Given the description of an element on the screen output the (x, y) to click on. 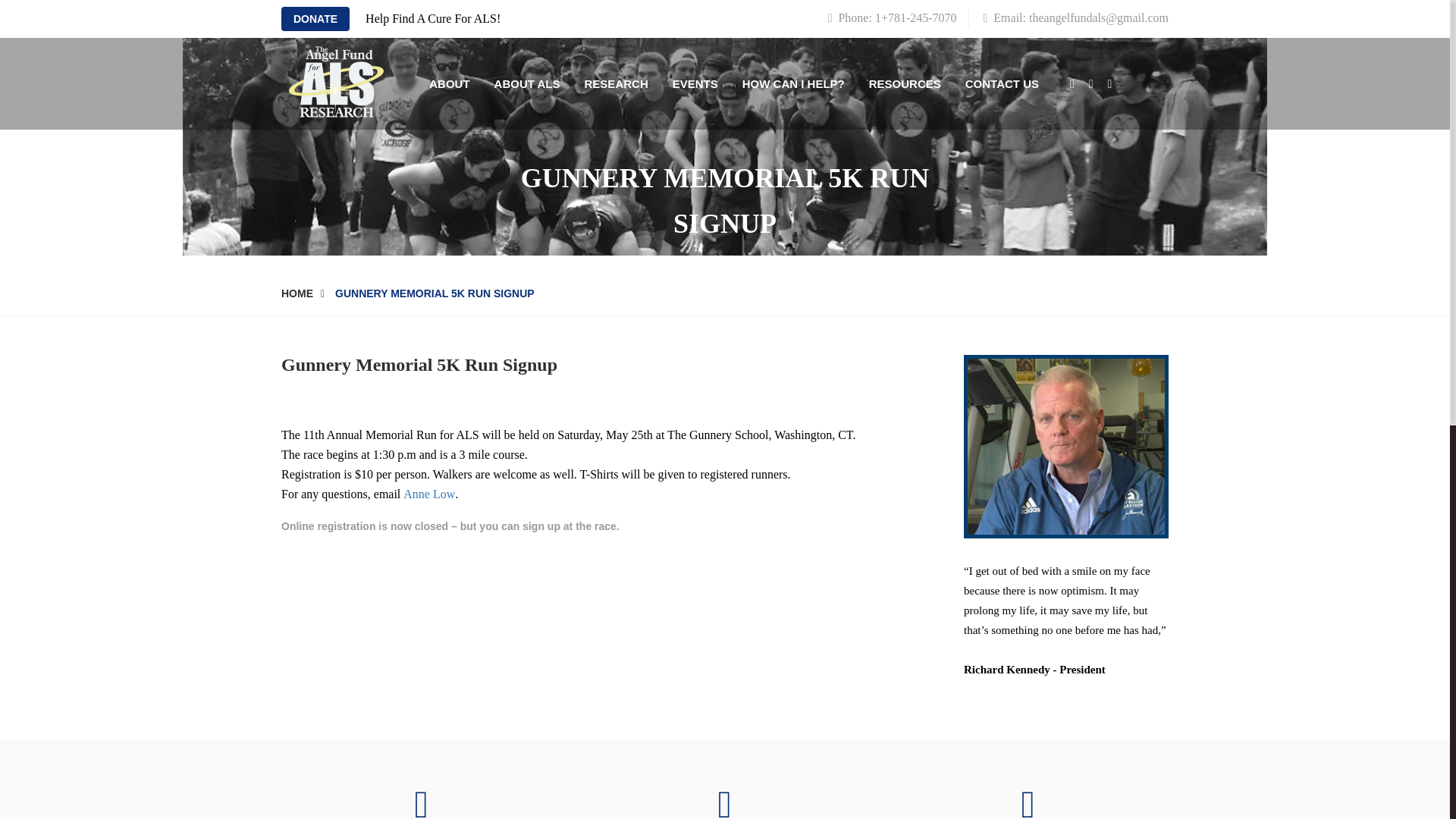
DONATE (315, 18)
Anne Low (428, 494)
RESOURCES (905, 83)
HOME (306, 294)
RESEARCH (616, 83)
HOW CAN I HELP? (793, 83)
CONTACT US (1002, 83)
ABOUT ALS (526, 83)
